Given the description of an element on the screen output the (x, y) to click on. 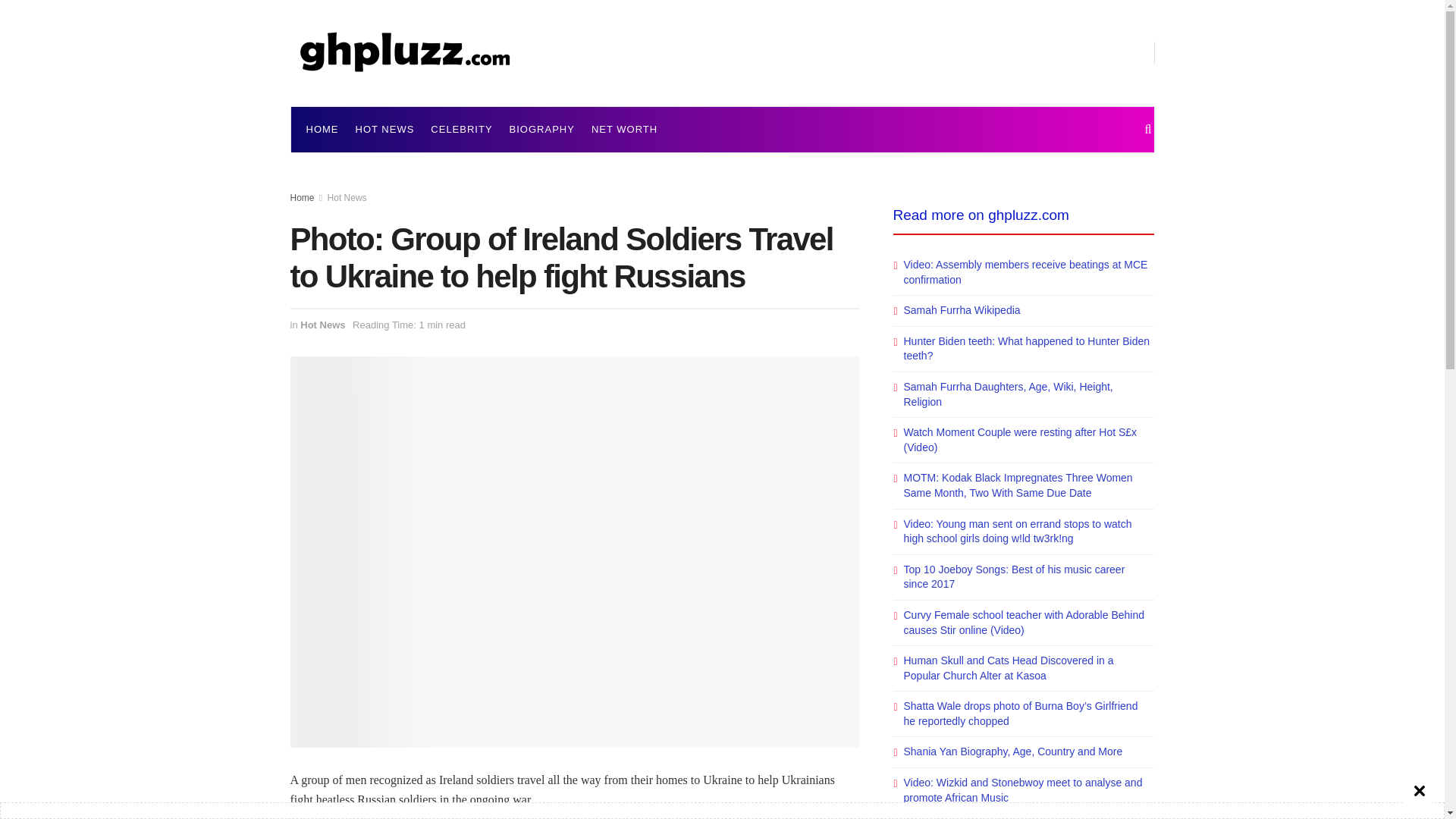
Home (301, 197)
Samah Furrha Wikipedia (962, 309)
Hunter Biden teeth: What happened to Hunter Biden teeth? (1027, 348)
BIOGRAPHY (542, 129)
Hot News (322, 324)
CELEBRITY (461, 129)
HOT NEWS (384, 129)
Read more on ghpluzz.com (980, 214)
Video: Assembly members receive beatings at MCE confirmation (1026, 271)
Hot News (346, 197)
NET WORTH (624, 129)
